Given the description of an element on the screen output the (x, y) to click on. 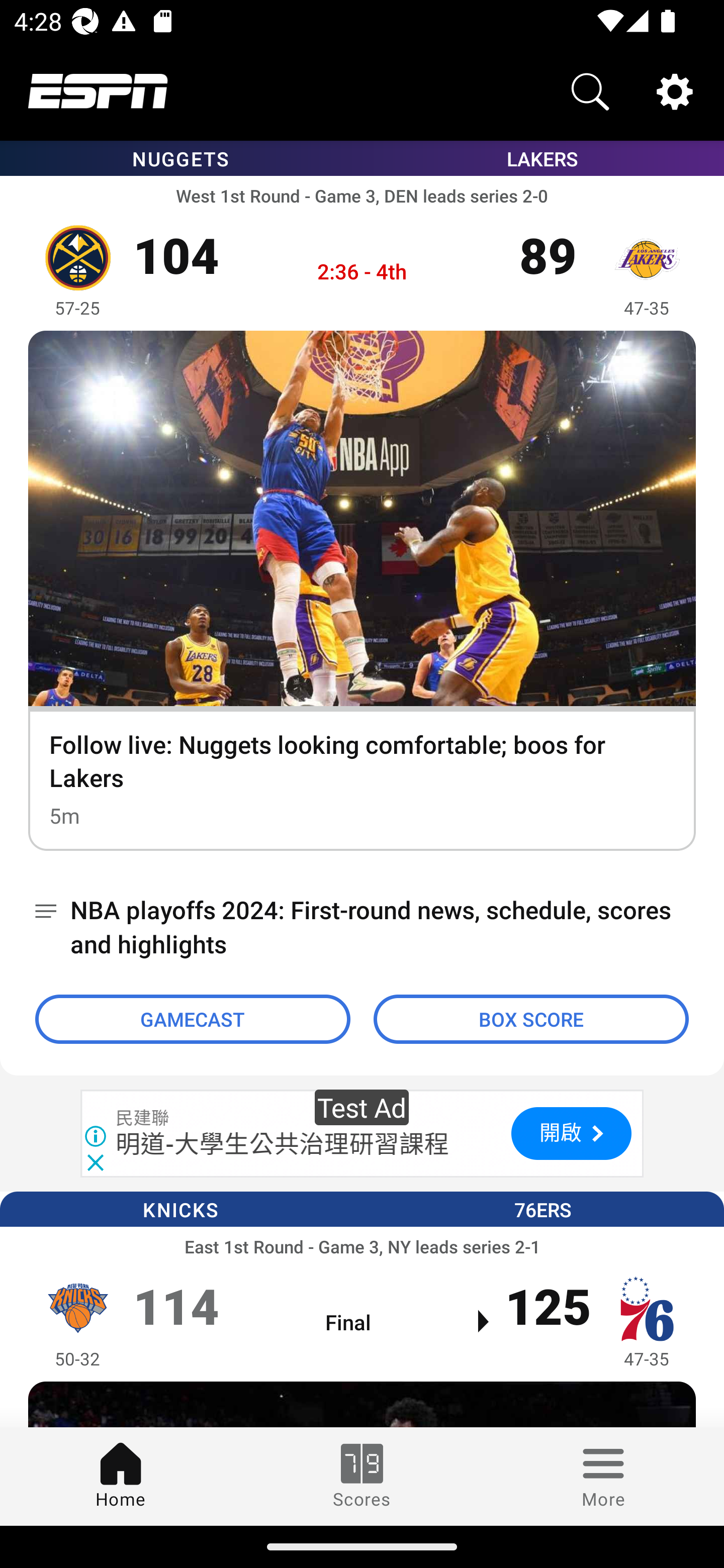
Search (590, 90)
Settings (674, 90)
GAMECAST (192, 1019)
BOX SCORE (530, 1019)
Scores (361, 1475)
More (603, 1475)
